Given the description of an element on the screen output the (x, y) to click on. 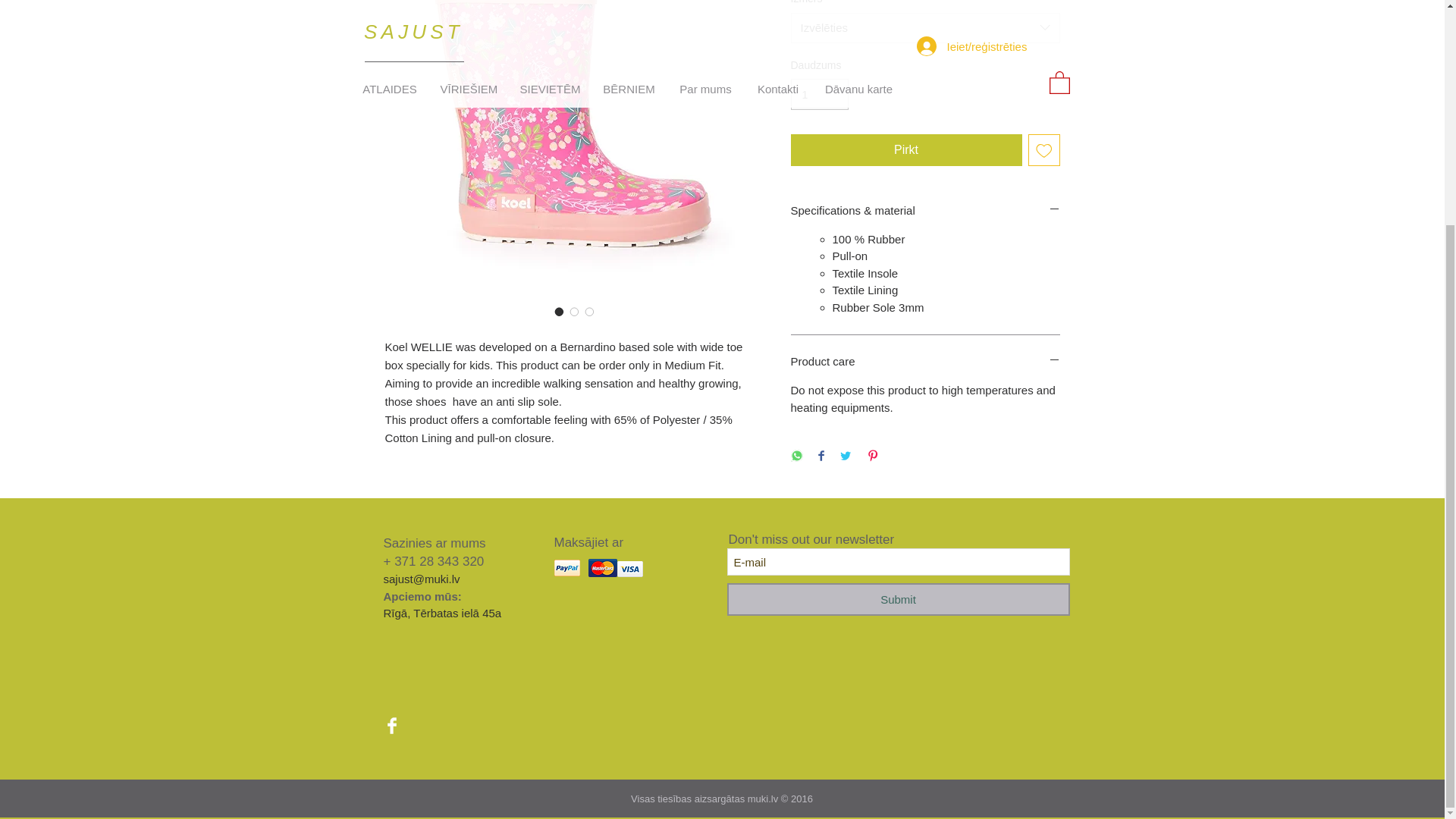
1 (818, 93)
Pirkt (906, 150)
